Given the description of an element on the screen output the (x, y) to click on. 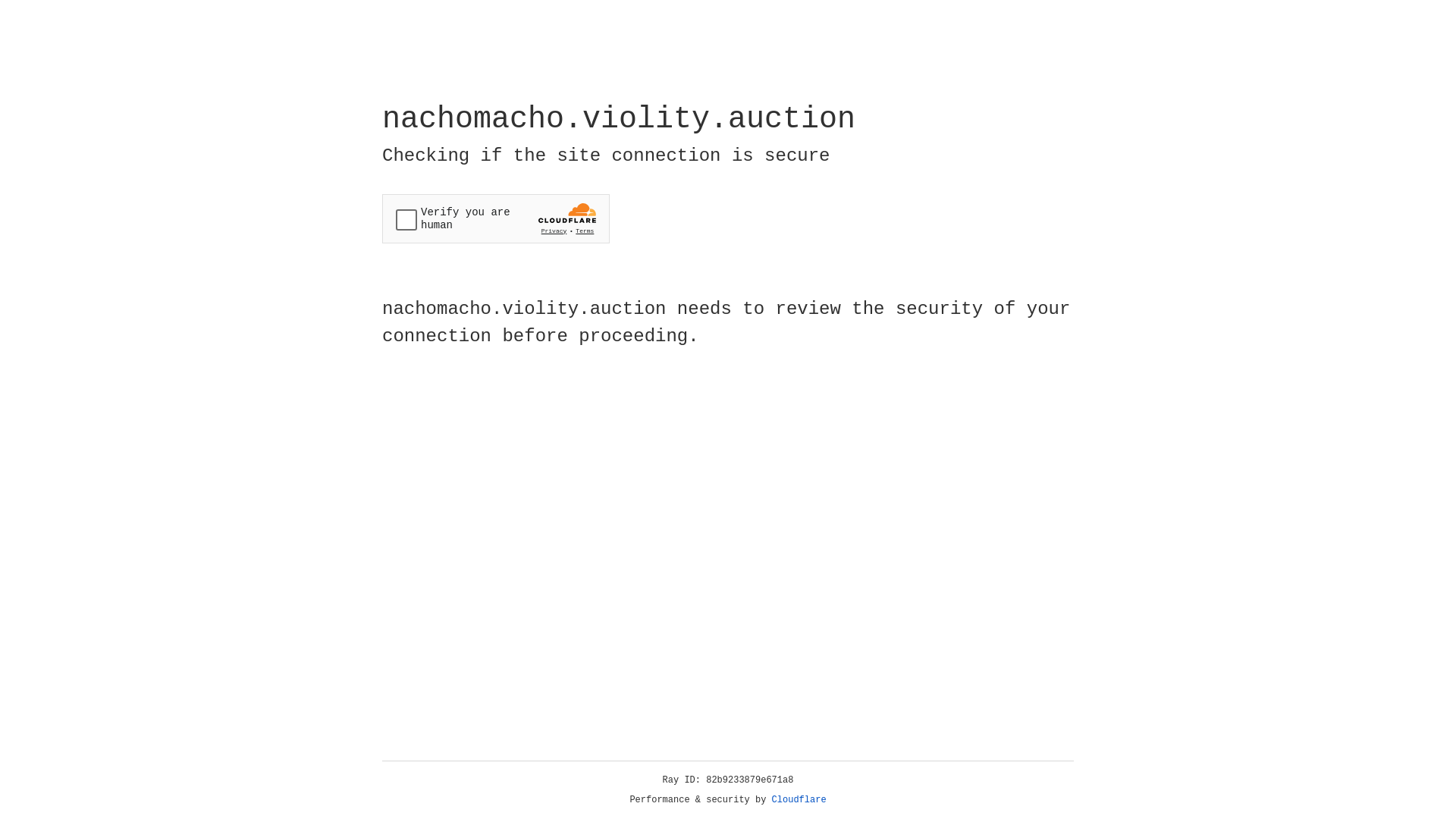
Cloudflare Element type: text (798, 799)
Widget containing a Cloudflare security challenge Element type: hover (495, 218)
